Given the description of an element on the screen output the (x, y) to click on. 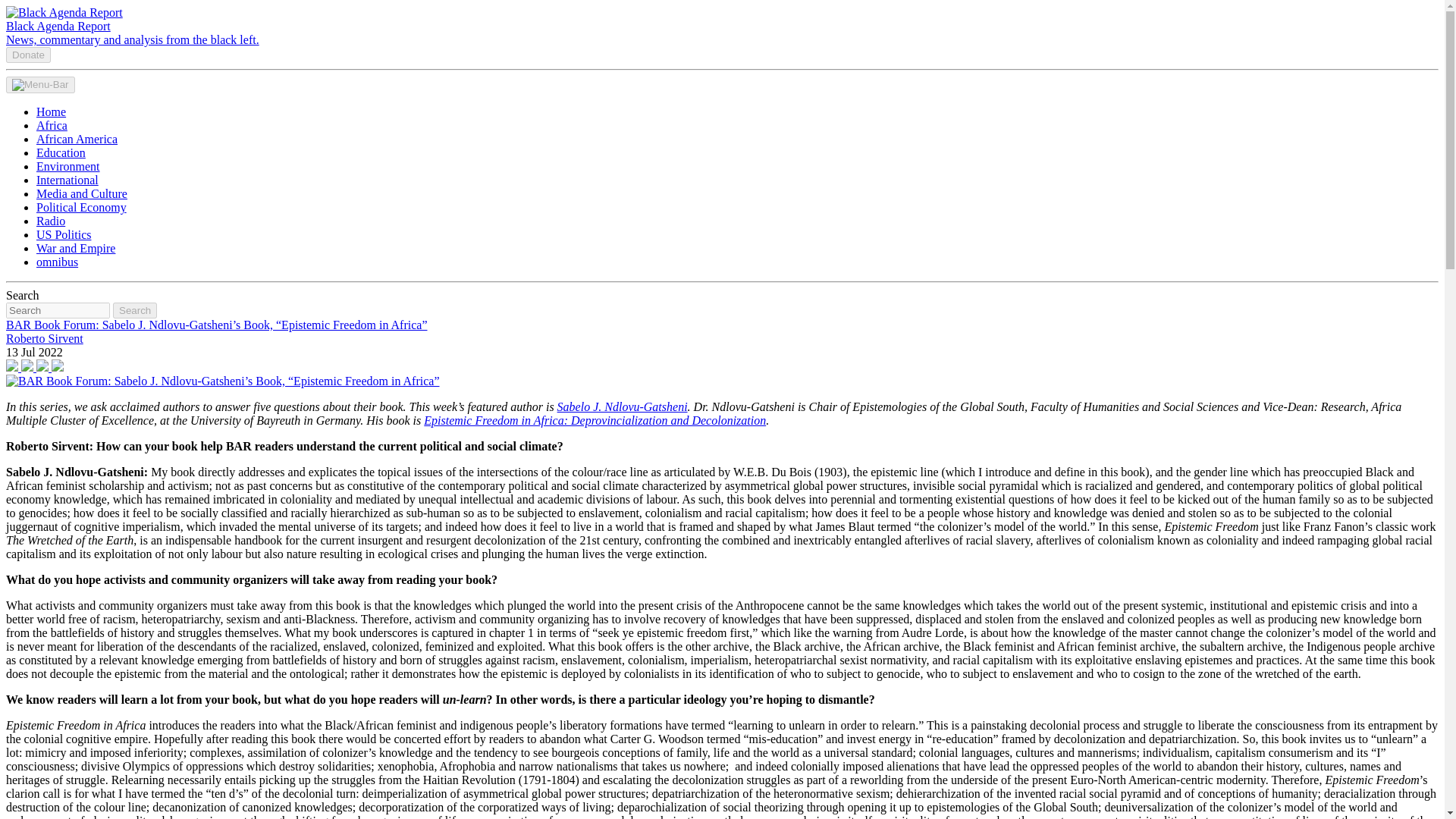
Media and Culture (82, 193)
Sabelo J. Ndlovu-Gatsheni (622, 406)
International (67, 179)
War and Empire (75, 247)
African America (76, 138)
US Politics (63, 234)
Donate (27, 54)
Radio (50, 220)
omnibus (57, 261)
Education (60, 152)
